Given the description of an element on the screen output the (x, y) to click on. 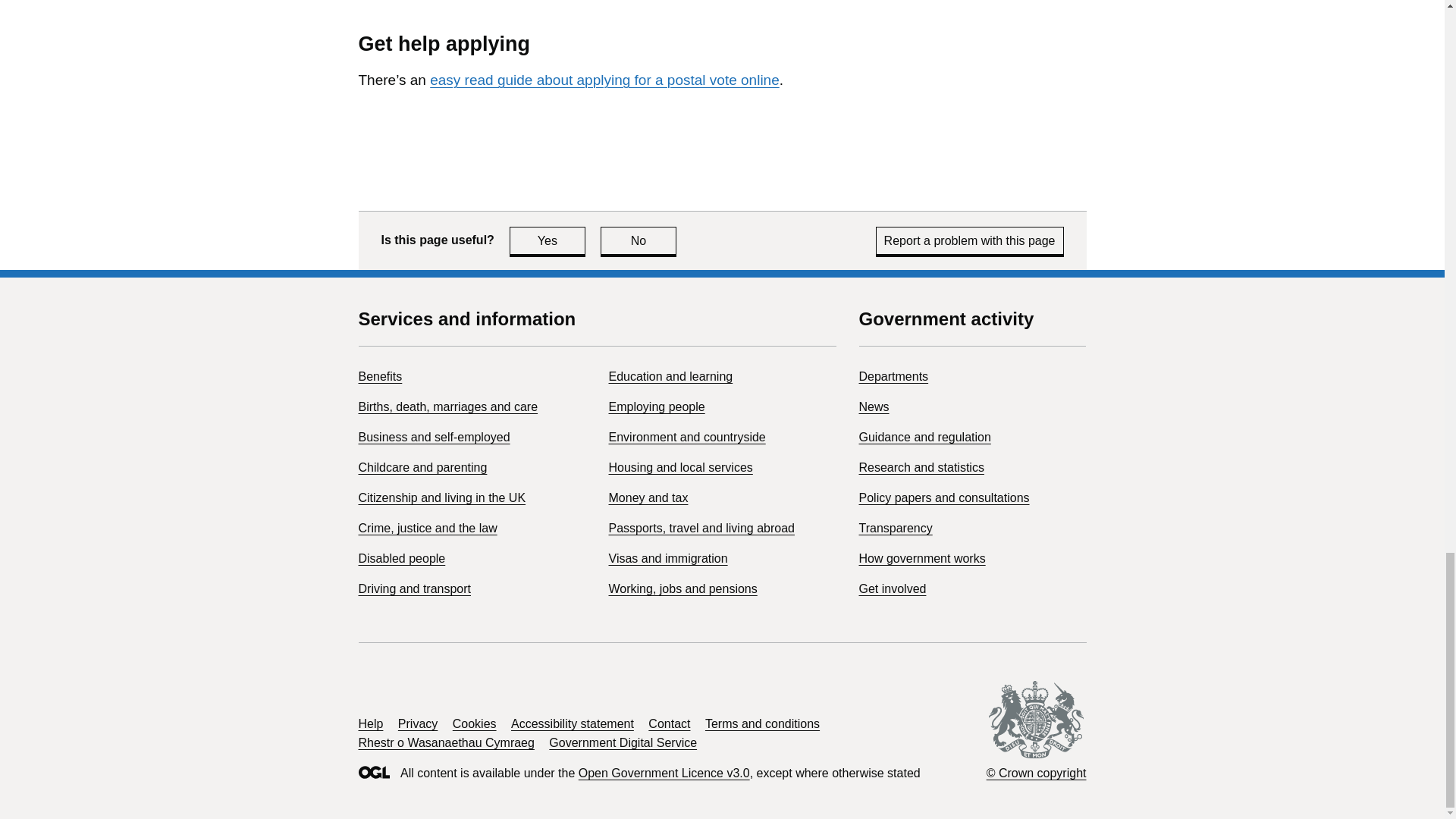
easy read guide about applying for a postal vote online (603, 79)
